Given the description of an element on the screen output the (x, y) to click on. 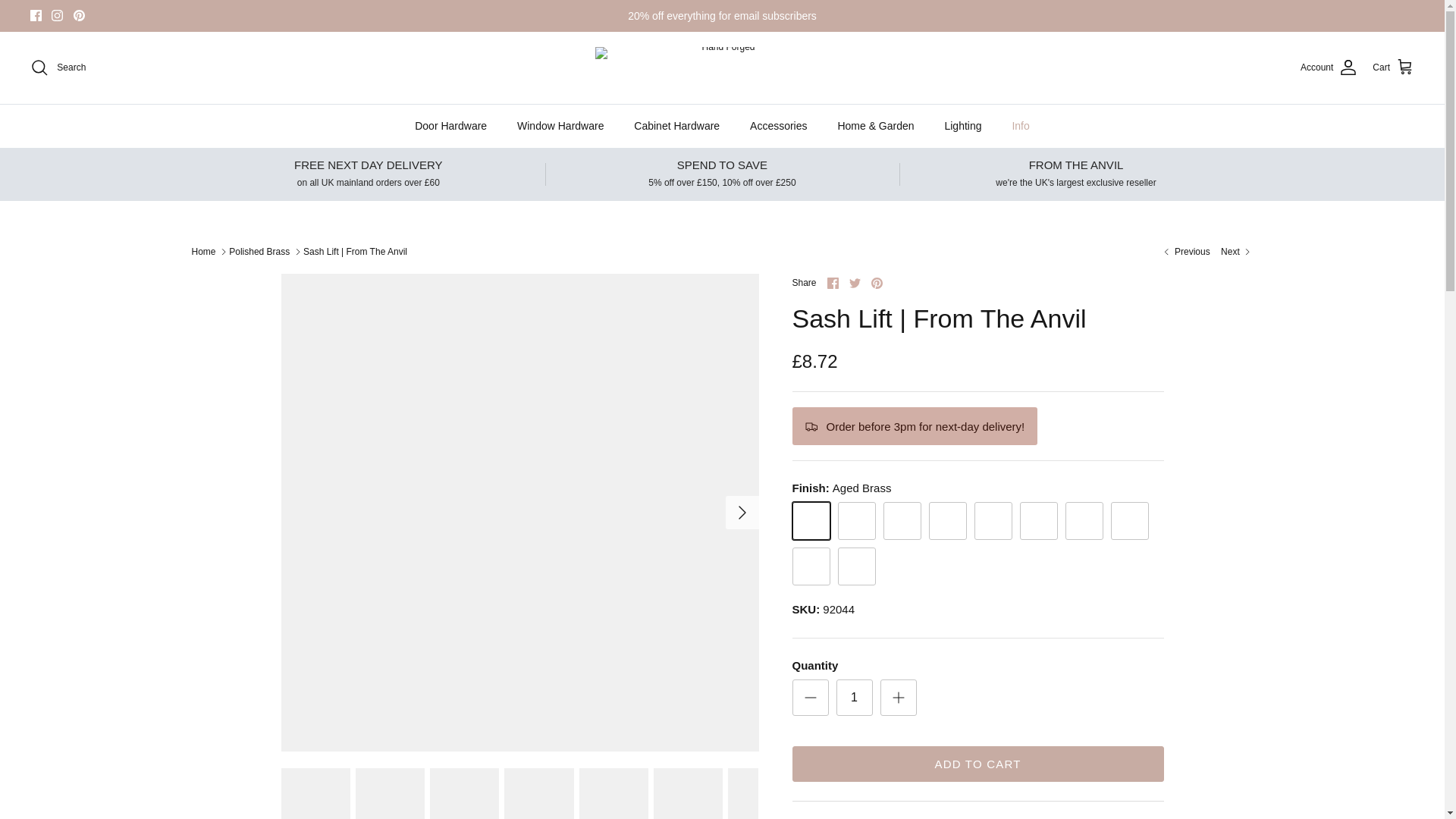
Facebook (36, 15)
RIGHT (741, 512)
Window Hardware (560, 126)
Facebook (36, 15)
Minus (809, 697)
Search (57, 67)
Facebook (832, 283)
Pinterest (876, 283)
Plus (897, 697)
Twitter (854, 283)
Pinterest (79, 15)
1 (853, 697)
Cart (1393, 66)
Account (1328, 67)
Pinterest (79, 15)
